Given the description of an element on the screen output the (x, y) to click on. 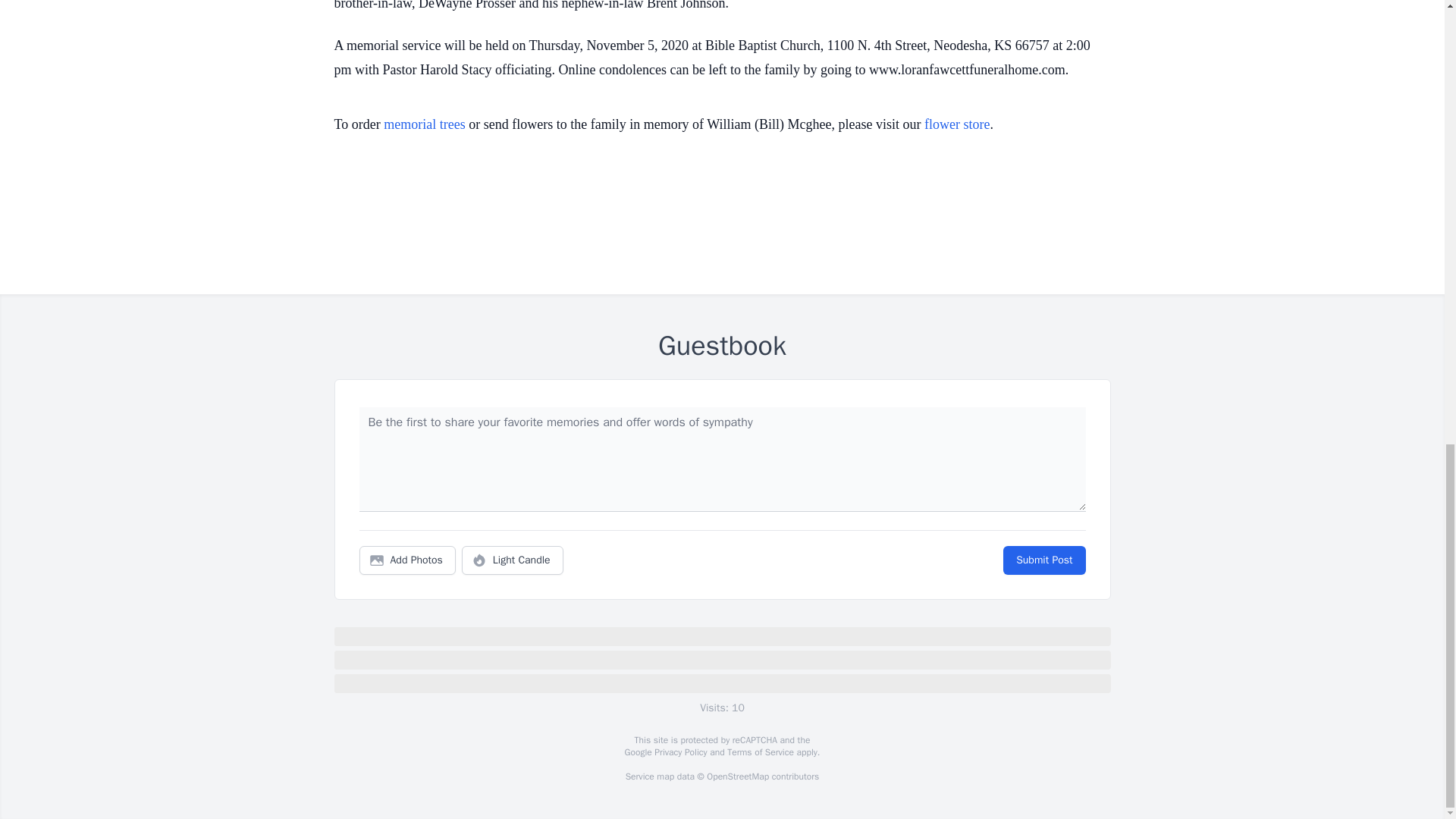
memorial trees (424, 124)
Light Candle (512, 560)
OpenStreetMap (737, 776)
Add Photos (407, 560)
Submit Post (1043, 560)
flower store (957, 124)
Privacy Policy (679, 752)
Terms of Service (759, 752)
